Given the description of an element on the screen output the (x, y) to click on. 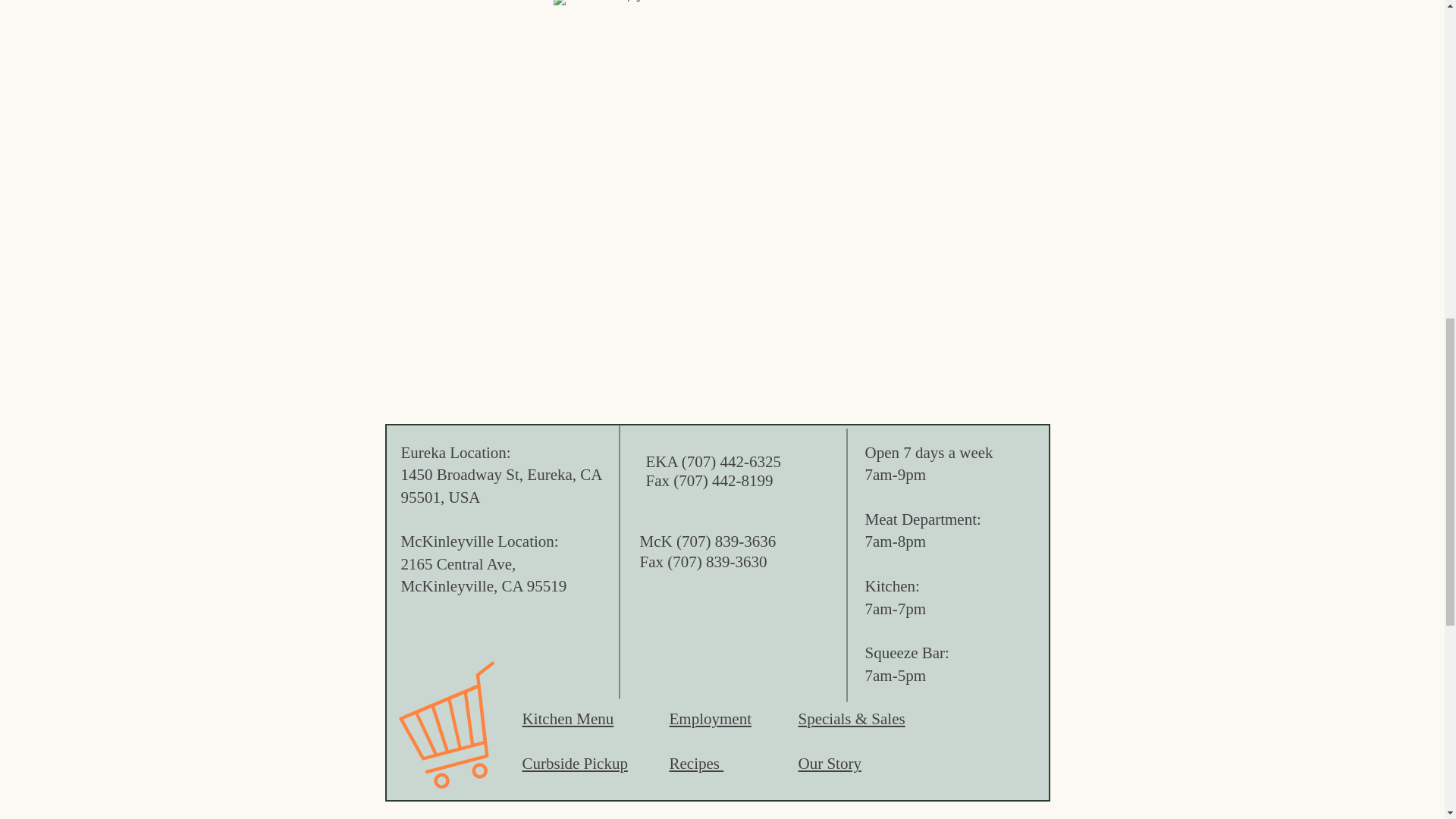
Kitchen Menu (566, 719)
Our Story (828, 763)
Recipes  (695, 763)
Curbside Pickup (574, 763)
Employment (709, 719)
